Given the description of an element on the screen output the (x, y) to click on. 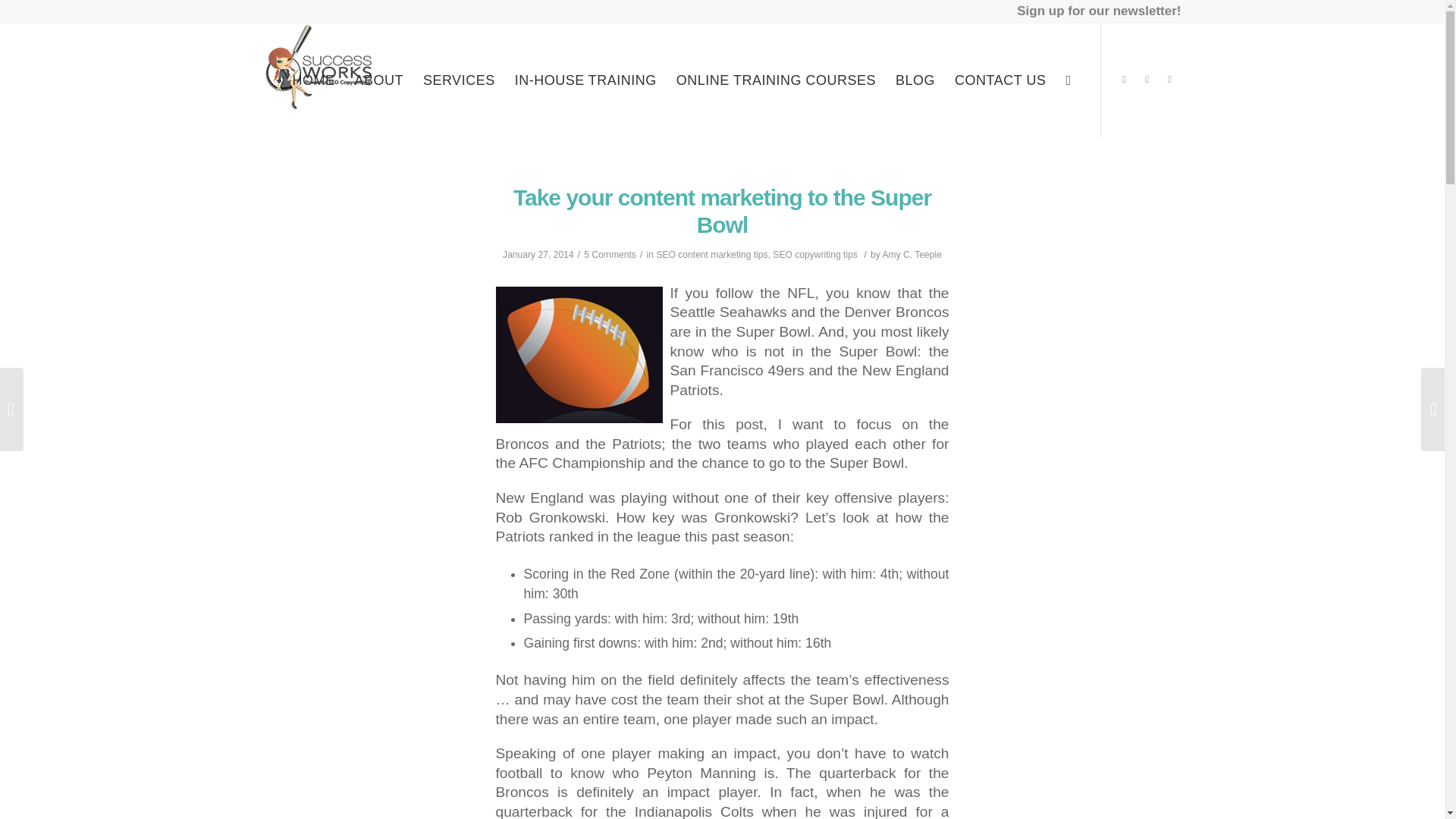
Online SEO Copywriting Courses (775, 80)
Take your content marketing to the Super Bowl (722, 211)
In-House Training (585, 80)
Posts by Amy C. Teeple (911, 254)
Twitter (1124, 78)
LinkedIn (1146, 78)
Sign up for our newsletter! (1098, 9)
SEO content marketing tips (711, 254)
5 Comments (609, 254)
